Given the description of an element on the screen output the (x, y) to click on. 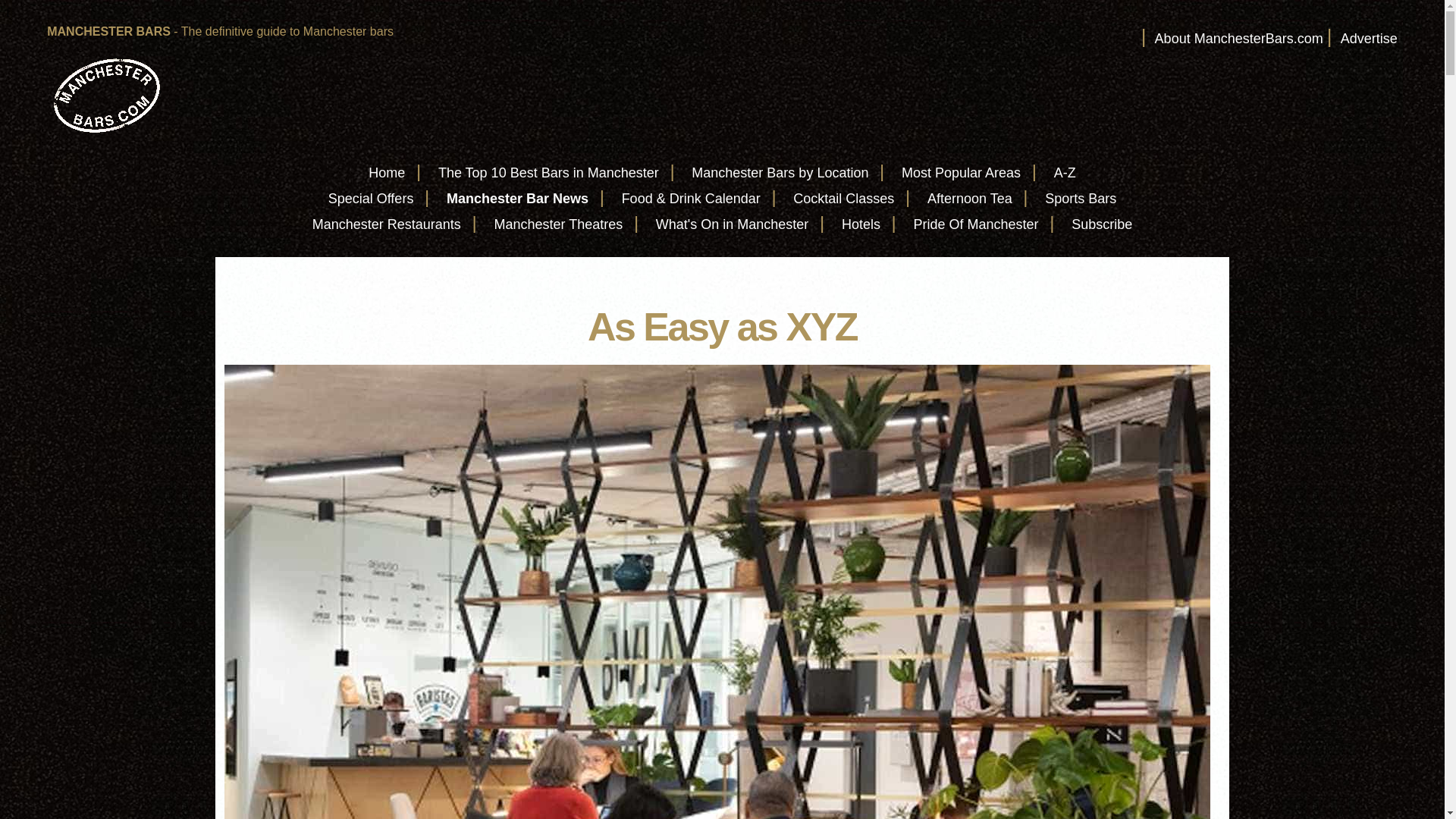
Sports Bars (1080, 198)
Manchester Restaurants (387, 224)
Home (386, 172)
Hotels (860, 224)
What's On in Manchester (732, 224)
Manchester Theatres (558, 224)
About ManchesterBars.com (1238, 38)
Subscribe (1101, 224)
Pride Of Manchester (975, 224)
The Top 10 Best Bars in Manchester (548, 172)
Special Offers (371, 198)
Manchester Bar News (517, 198)
Most Popular Areas (960, 172)
Advertise (1368, 38)
Manchester Bars by Location (779, 172)
